Given the description of an element on the screen output the (x, y) to click on. 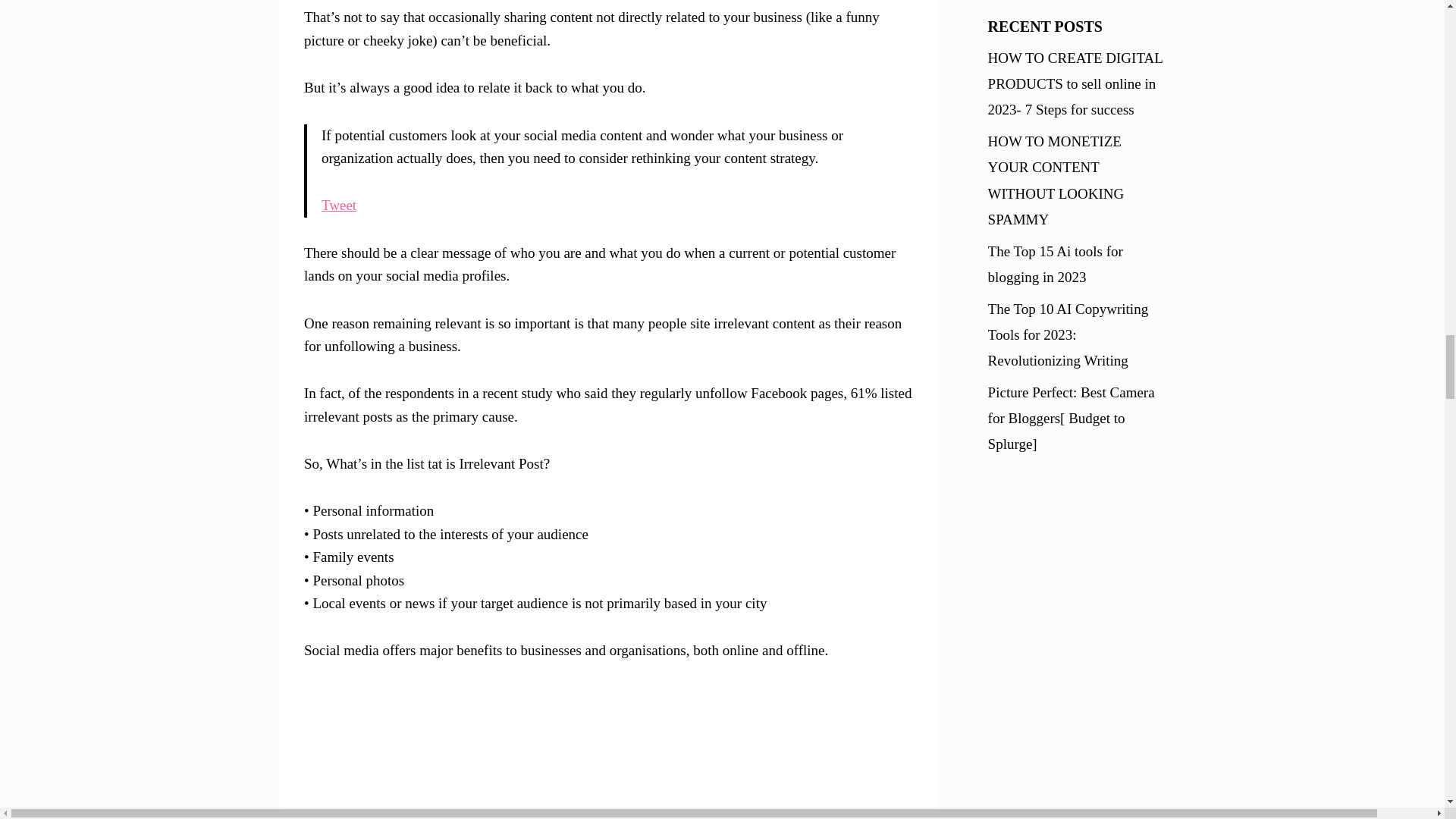
Tweet (338, 204)
